Given the description of an element on the screen output the (x, y) to click on. 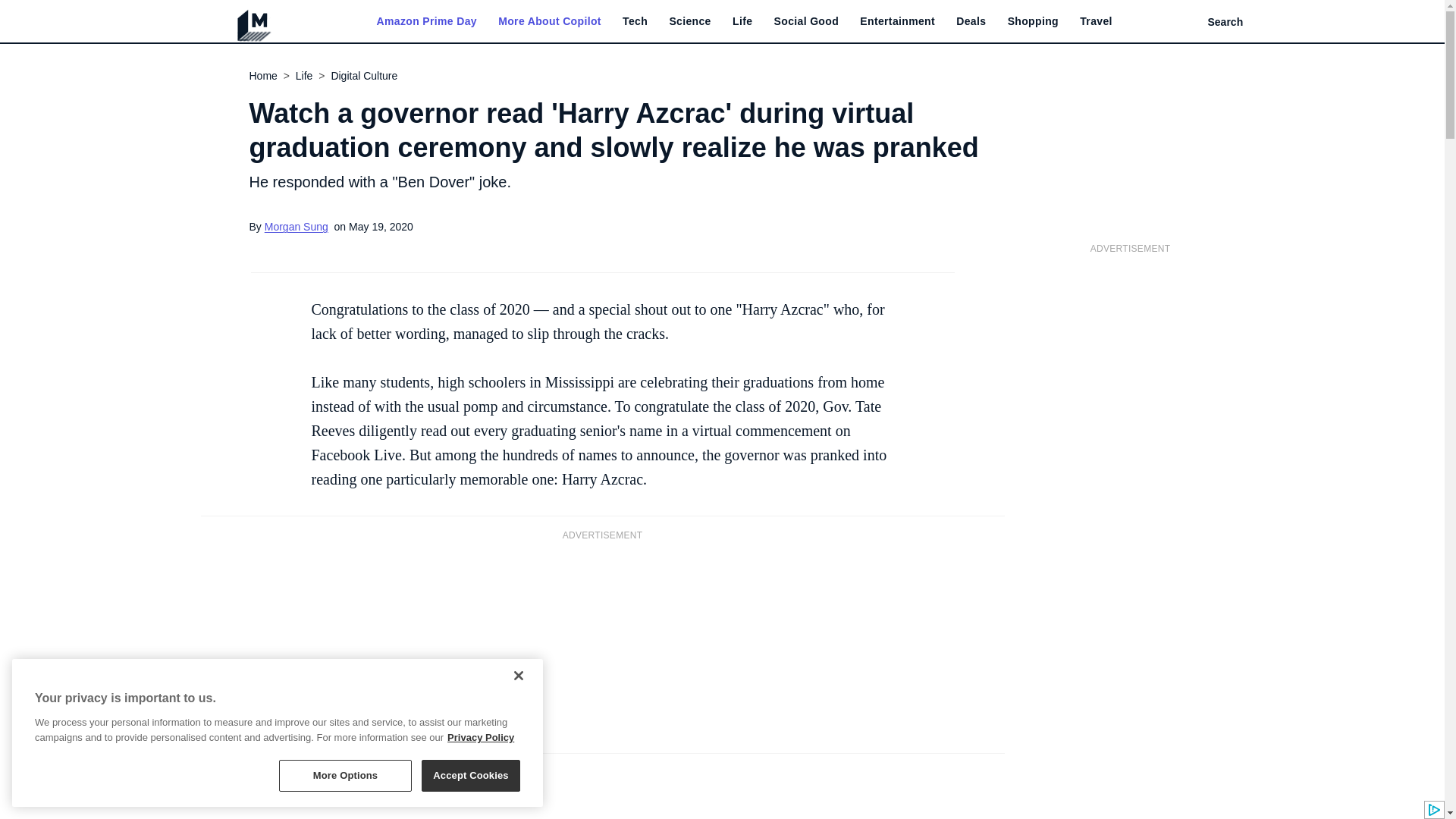
Tech (635, 21)
3rd party ad content (601, 644)
Life (742, 21)
Travel (1096, 21)
Social Good (807, 21)
Shopping (1032, 21)
Amazon Prime Day (425, 21)
Entertainment (897, 21)
Science (689, 21)
More About Copilot (549, 21)
Deals (970, 21)
